Given the description of an element on the screen output the (x, y) to click on. 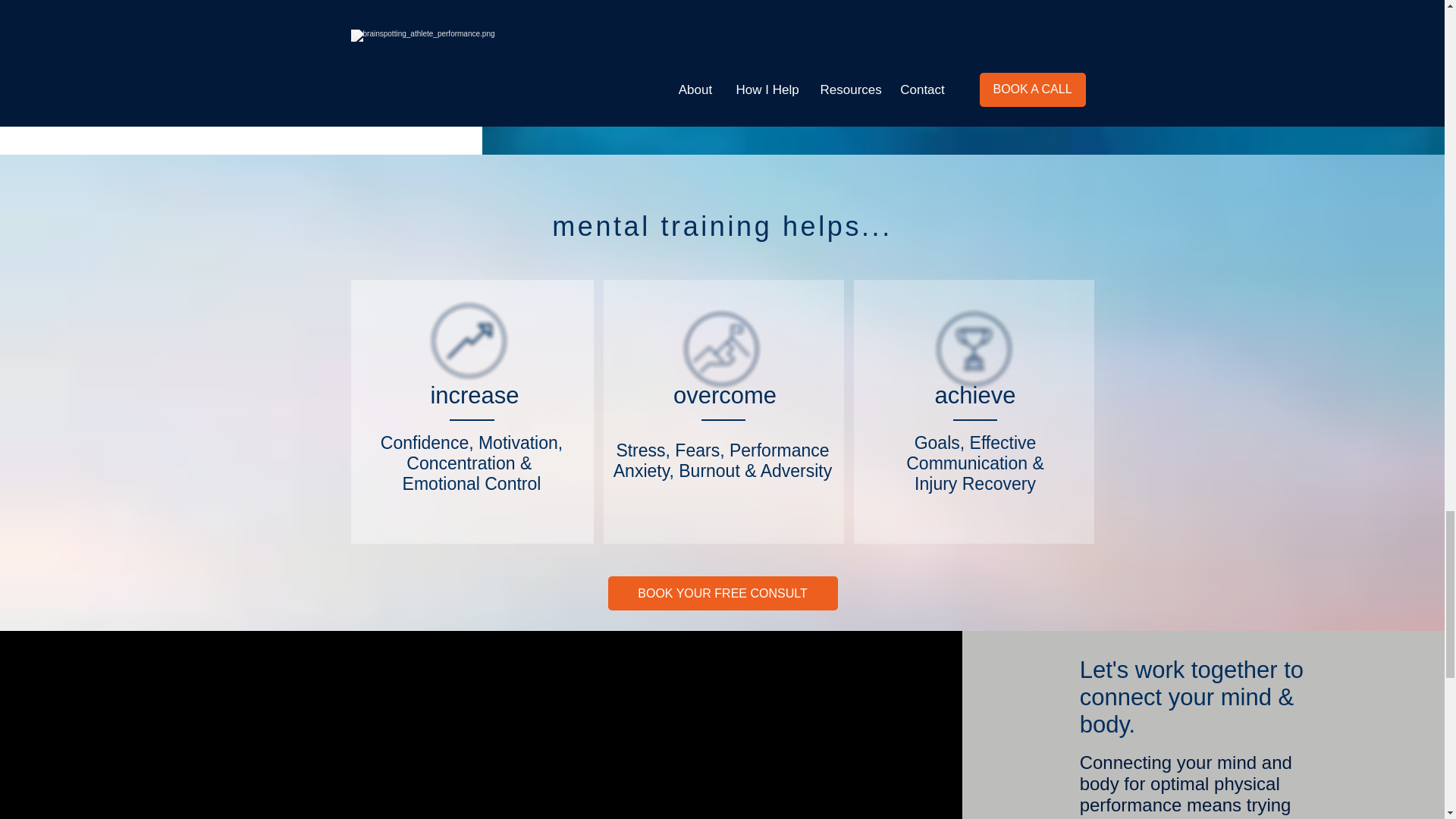
BOOK YOUR FREE CONSULT (723, 593)
